Given the description of an element on the screen output the (x, y) to click on. 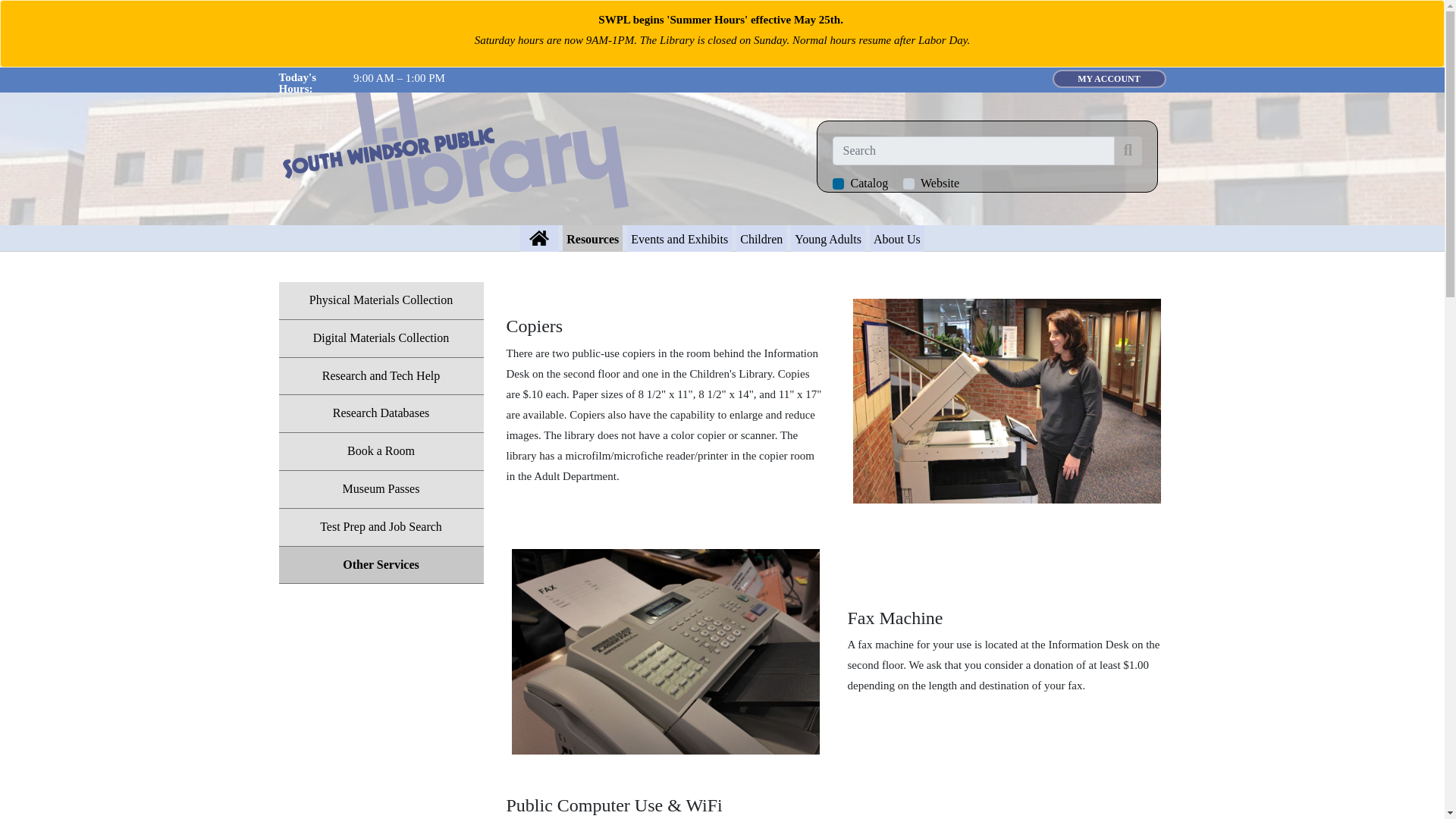
Young Adults (827, 238)
MY ACCOUNT (1109, 78)
About Us (896, 238)
Children (761, 238)
Resources (592, 238)
Events and Exhibits (679, 238)
